Given the description of an element on the screen output the (x, y) to click on. 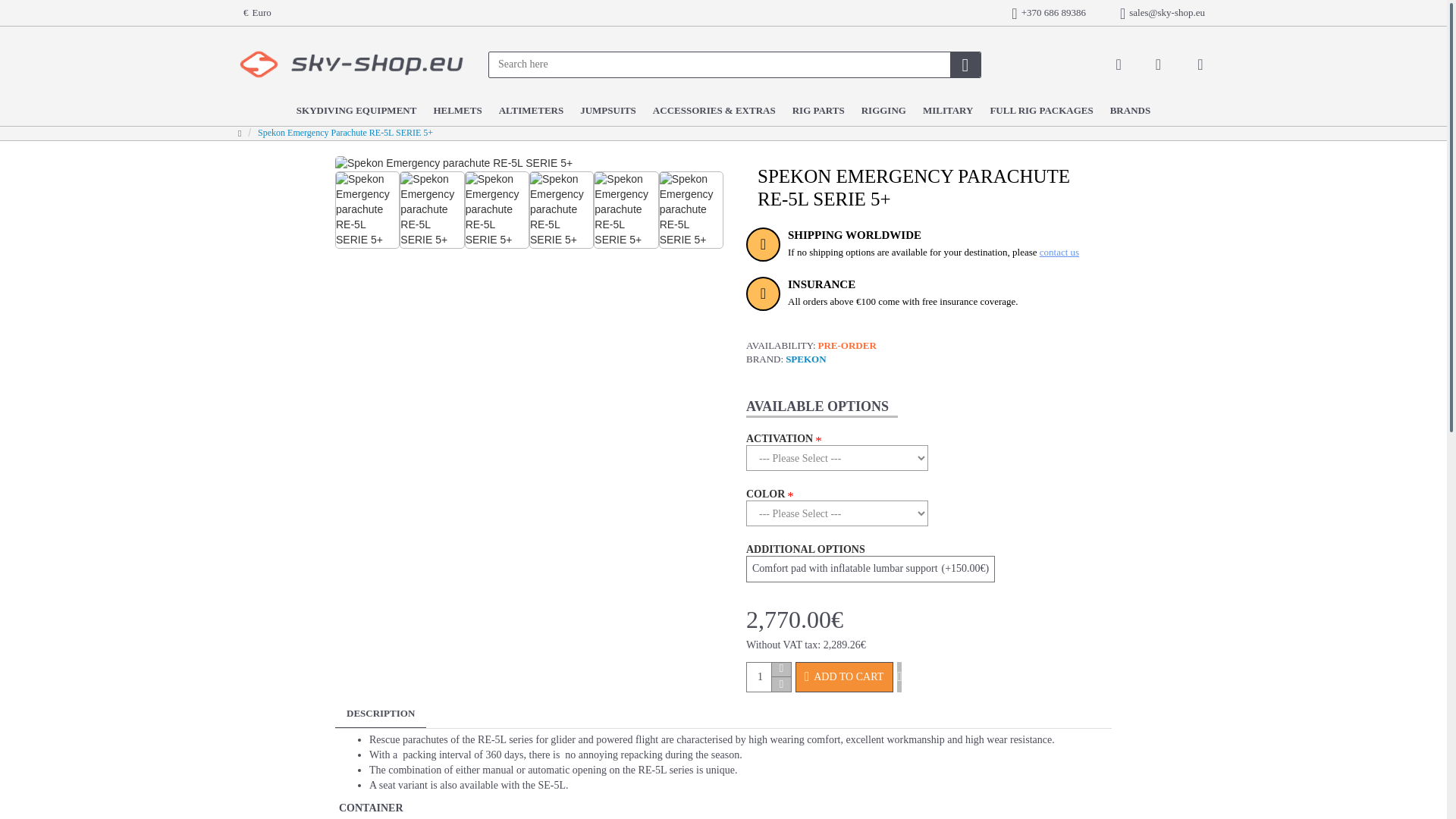
HELMETS (459, 114)
Sky-Shop Skydiving Gear Store Europe (351, 63)
JUMPSUITS (610, 114)
ALTIMETERS (534, 114)
SKYDIVING EQUIPMENT (360, 114)
1 (768, 676)
